Given the description of an element on the screen output the (x, y) to click on. 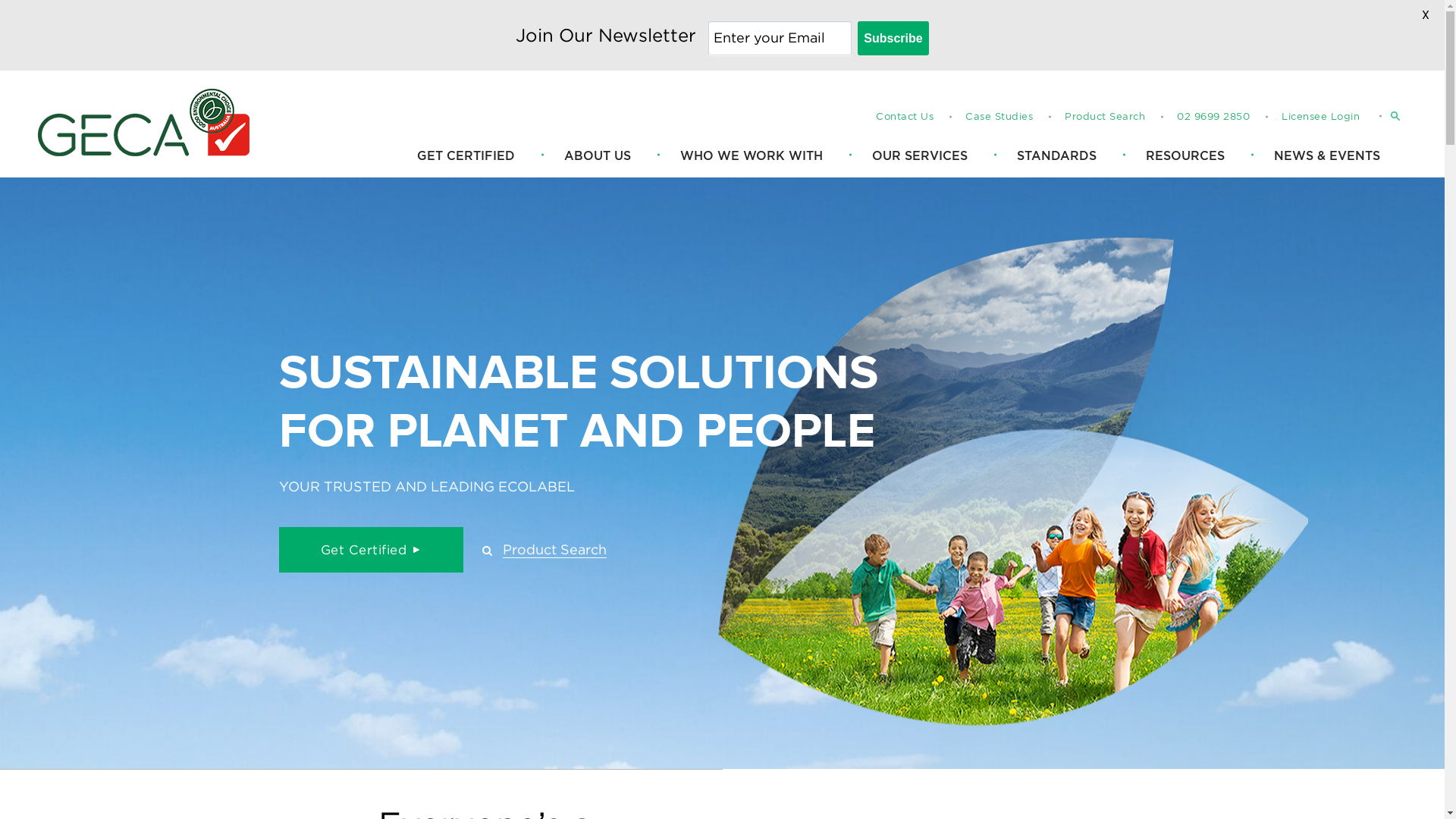
02 9699 2850 Element type: text (1212, 116)
ABOUT US Element type: text (597, 155)
Contact Us Element type: text (904, 116)
Get Certified Element type: text (371, 549)
STANDARDS Element type: text (1056, 155)
Search Element type: text (1283, 116)
Product Search Element type: text (544, 549)
GECA Element type: hover (143, 124)
Case Studies Element type: text (998, 116)
RESOURCES Element type: text (1185, 155)
NEWS & EVENTS Element type: text (1326, 155)
OUR SERVICES Element type: text (919, 155)
Product Search Element type: text (1104, 116)
Licensee Login Element type: text (1320, 116)
Subscribe Element type: text (892, 38)
geca Element type: hover (143, 122)
WHO WE WORK WITH Element type: text (751, 155)
GET CERTIFIED Element type: text (465, 155)
